Given the description of an element on the screen output the (x, y) to click on. 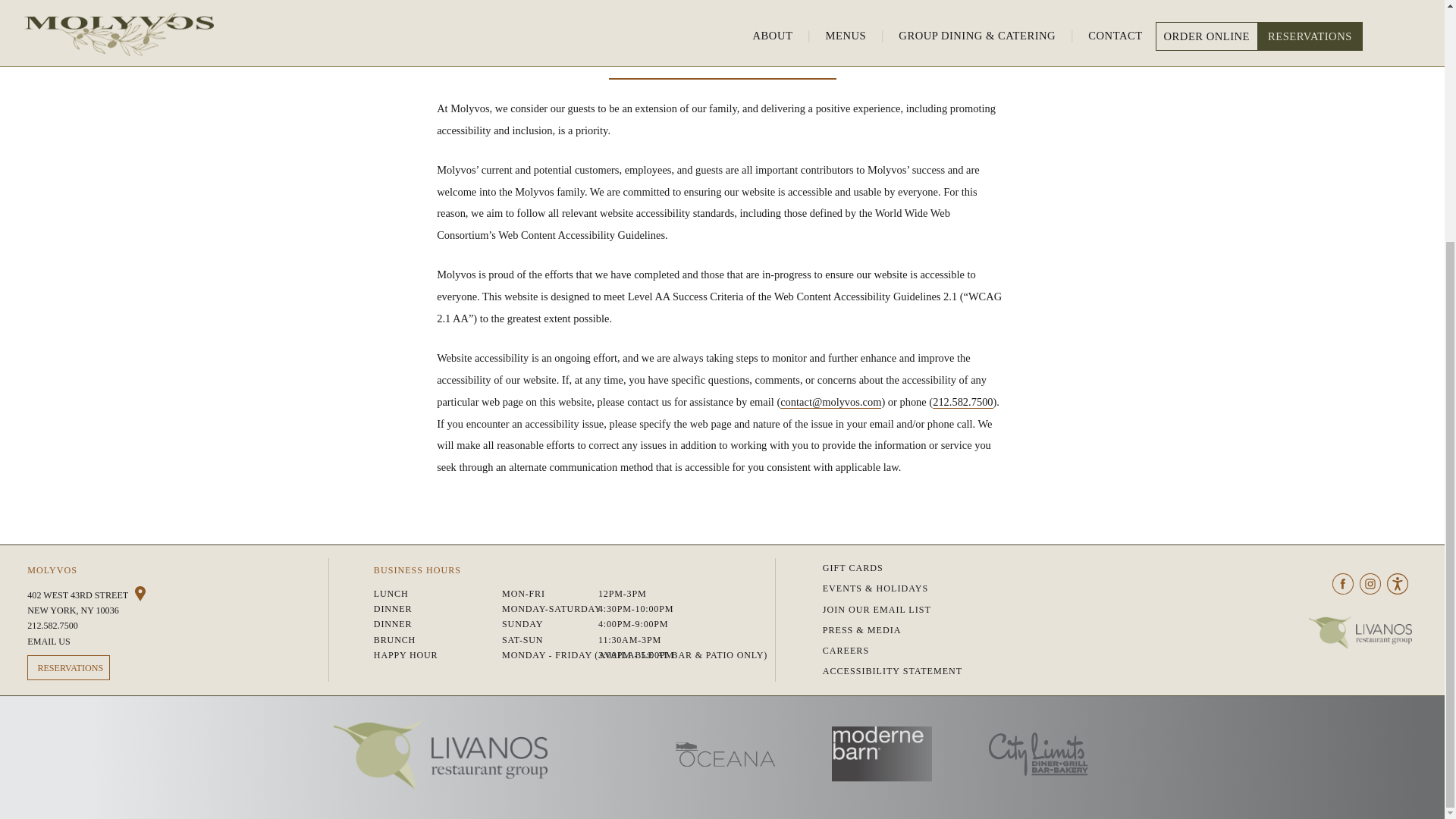
212.582.7500 (178, 625)
CAREERS (1000, 650)
402 WEST 43RD STREET (178, 594)
GIFT CARDS (545, 464)
NEW YORK, NY 10036 (197, 465)
EMAIL US (343, 465)
GIFT CARDS (1000, 567)
ACCESSIBILITY STATEMENT (1000, 670)
EMAIL US (178, 641)
ACCESSIBILITY STATEMENT (1049, 464)
